Given the description of an element on the screen output the (x, y) to click on. 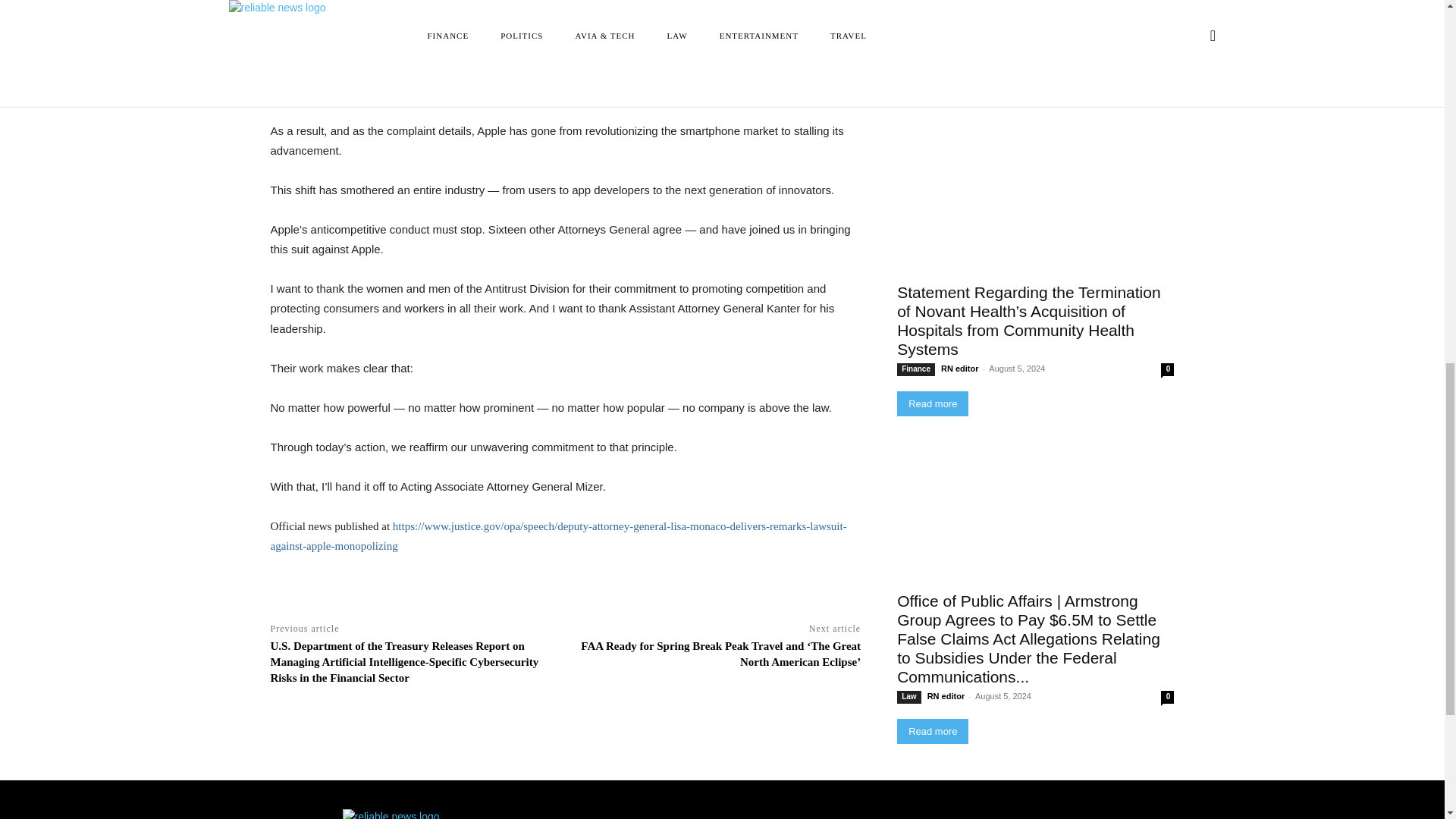
0 (1166, 60)
Travel (912, 60)
0 (1166, 369)
Finance (915, 369)
Read more (932, 403)
RN editor (953, 58)
Read more (932, 94)
RN editor (959, 368)
Read more (932, 403)
Read more (932, 94)
